Given the description of an element on the screen output the (x, y) to click on. 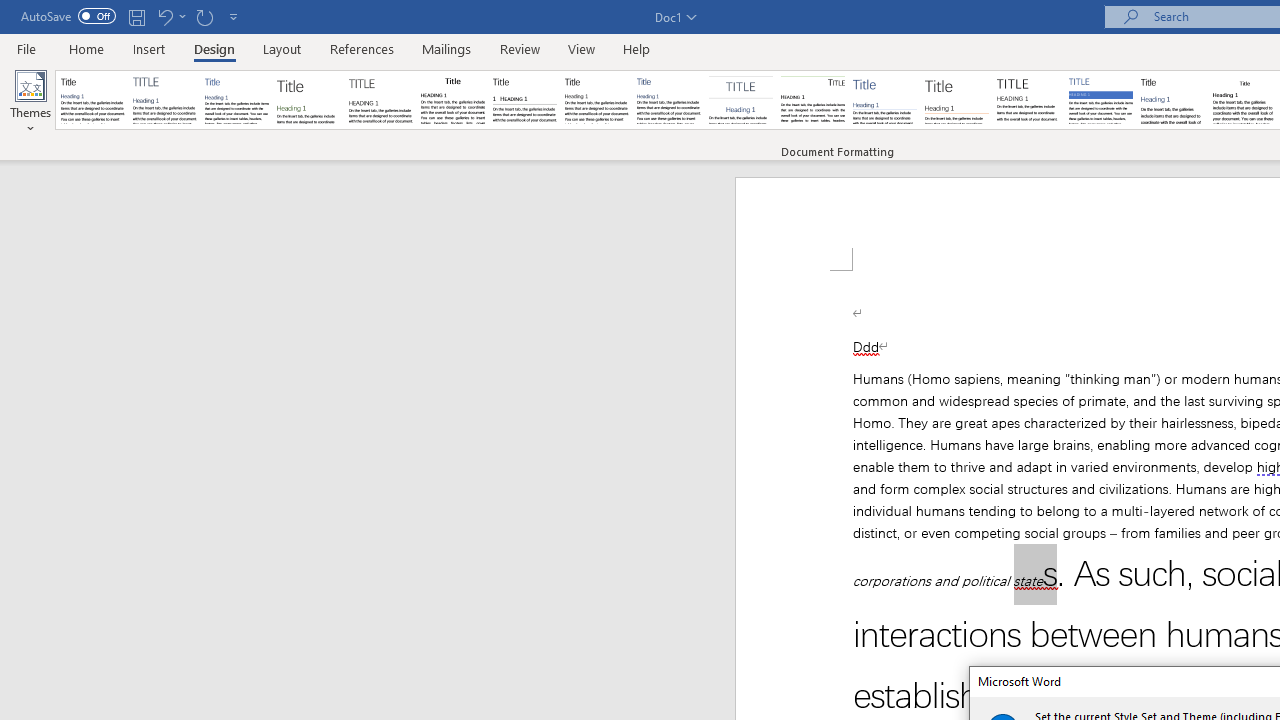
Shaded (1100, 100)
Undo Apply Quick Style Set (164, 15)
Lines (Distinctive) (812, 100)
Minimalist (1028, 100)
Undo Apply Quick Style Set (170, 15)
Centered (740, 100)
